Given the description of an element on the screen output the (x, y) to click on. 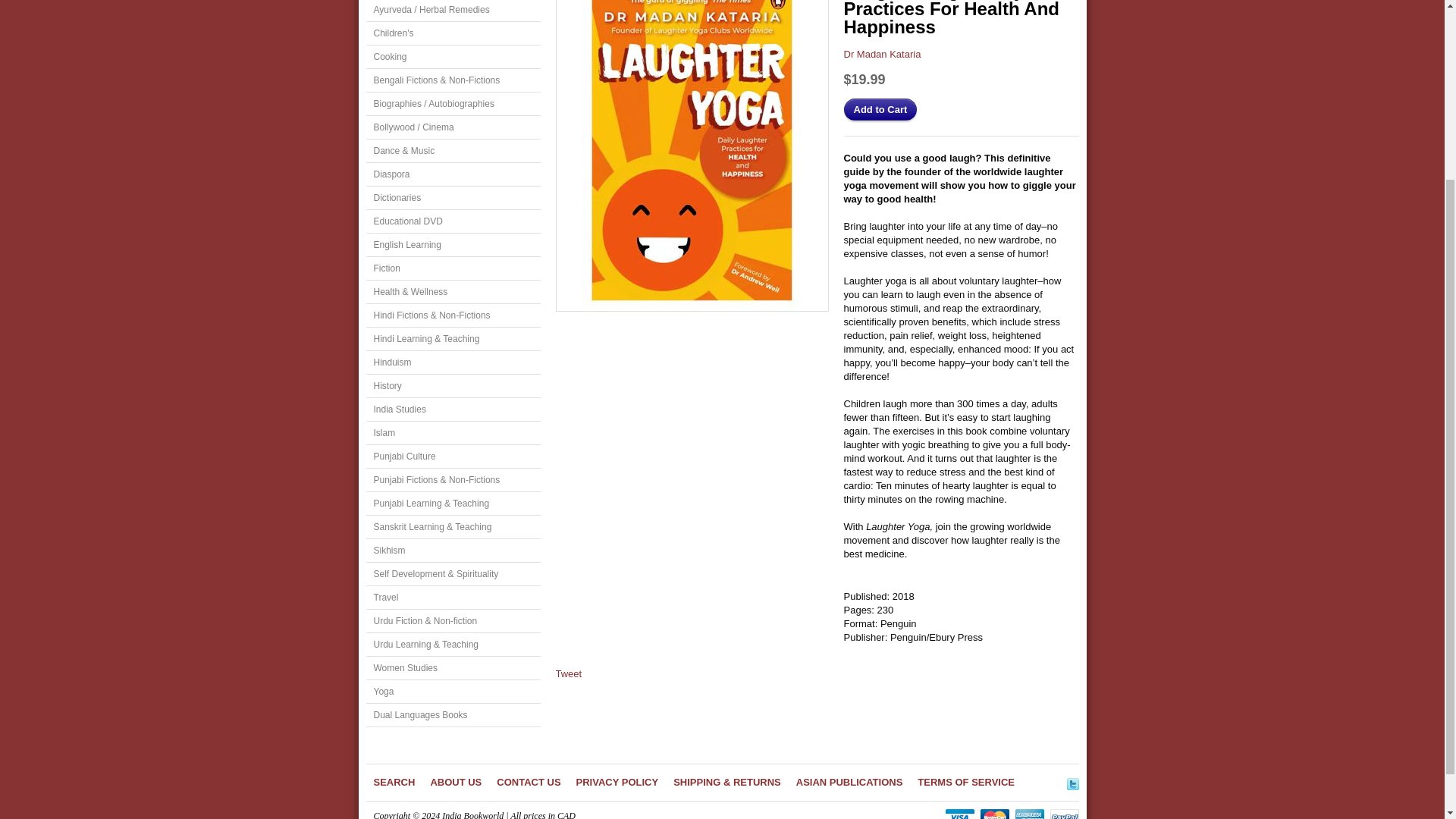
Add to Cart (880, 109)
Cooking (452, 56)
Educational DVD (452, 221)
Hinduism (452, 362)
Punjabi Culture (452, 456)
Dictionaries (452, 197)
Diaspora (452, 174)
Sikhism (452, 550)
Fiction (452, 268)
Women Studies (452, 668)
English Learning (452, 245)
Children's (452, 33)
Islam (452, 433)
Travel (452, 597)
India Studies (452, 409)
